Given the description of an element on the screen output the (x, y) to click on. 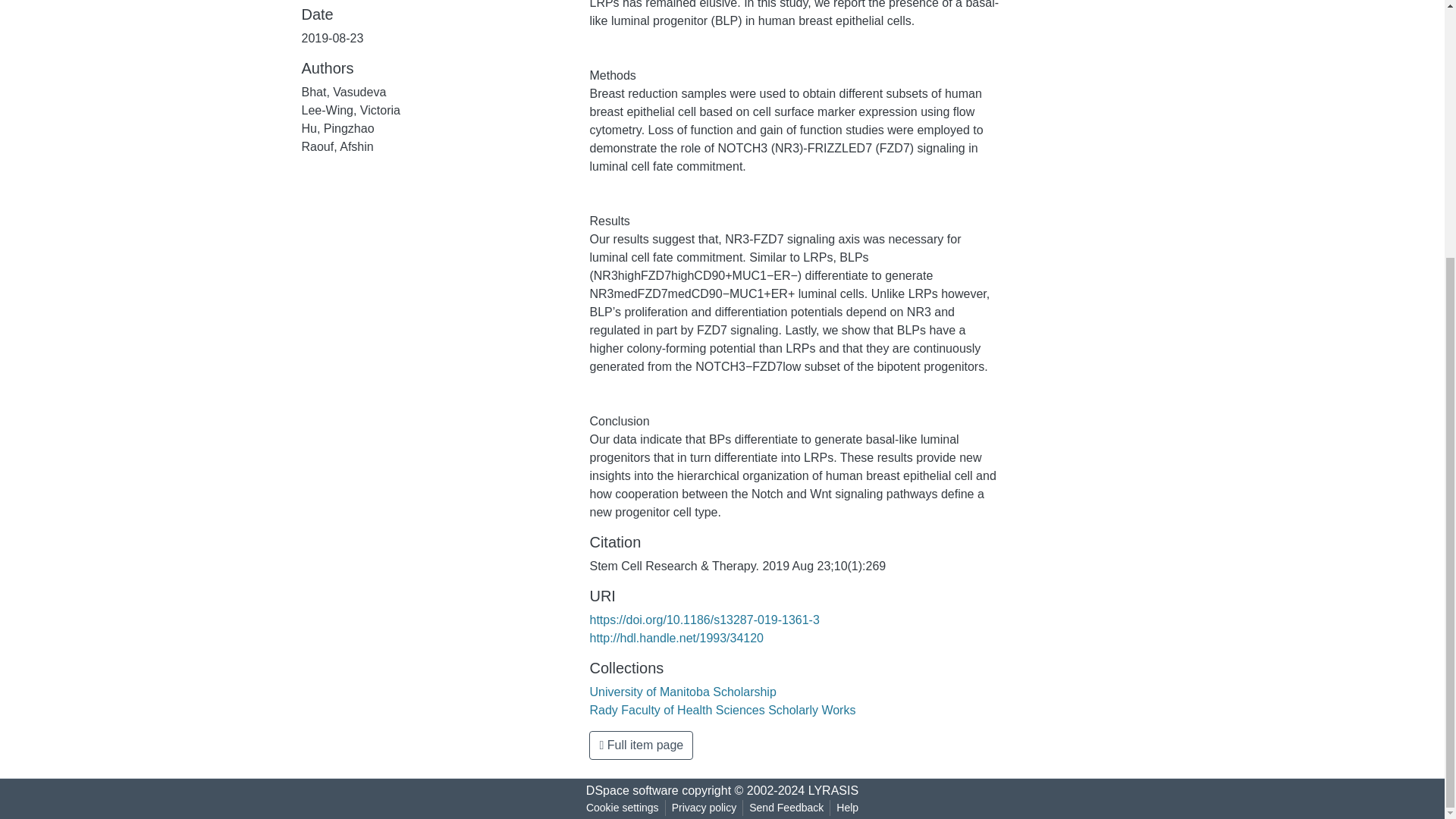
LYRASIS (833, 789)
Full item page (641, 745)
Help (846, 807)
Cookie settings (622, 807)
University of Manitoba Scholarship (682, 691)
Rady Faculty of Health Sciences Scholarly Works (722, 709)
Privacy policy (703, 807)
Send Feedback (785, 807)
DSpace software (632, 789)
